Given the description of an element on the screen output the (x, y) to click on. 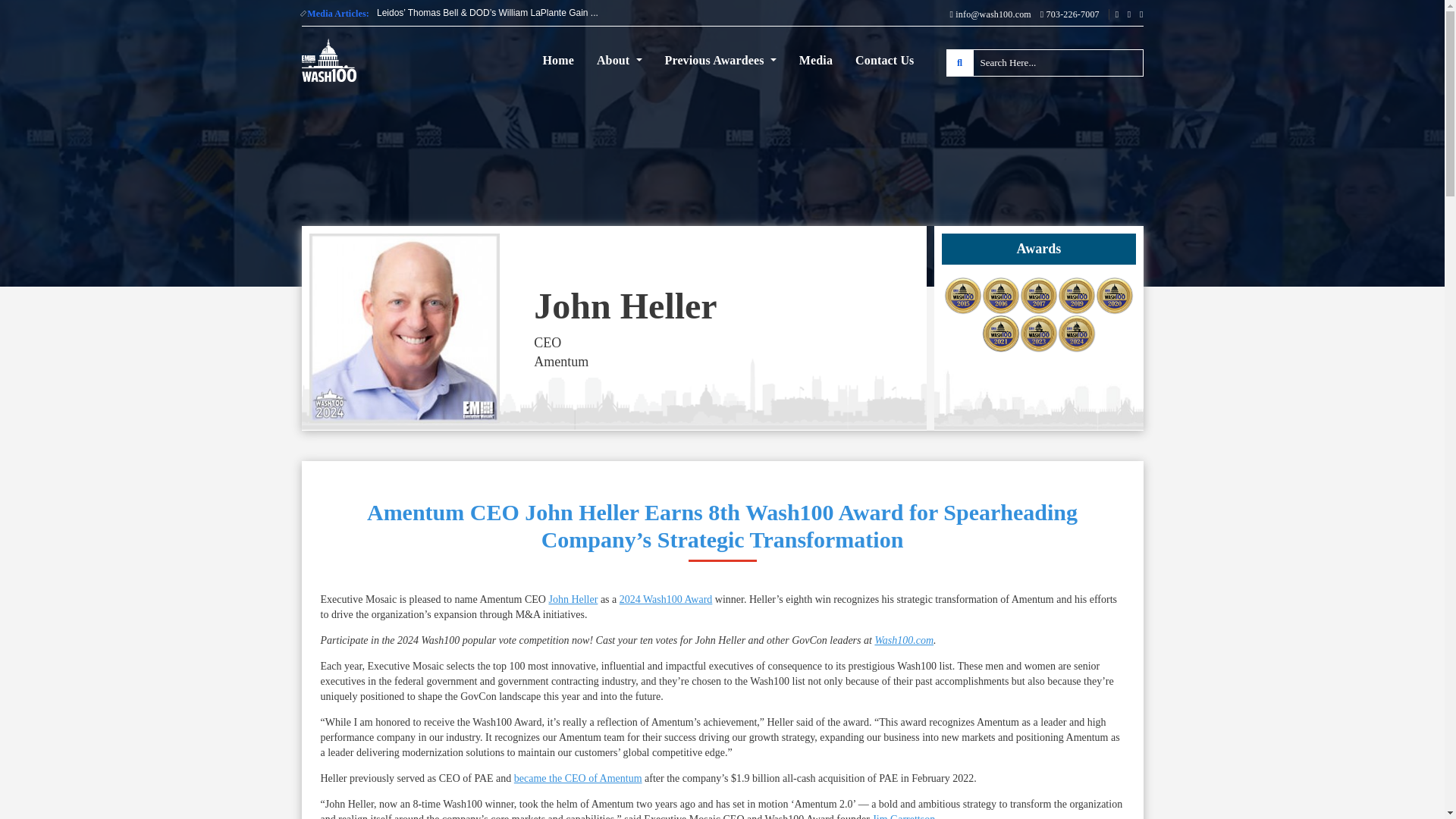
Wash100 2015 Winner (962, 295)
Wash100 2016 Winner (1000, 295)
Wash100 2019 Winner (1077, 295)
Wash100 2017 Winner (1039, 295)
Contact Us (885, 60)
Home (557, 60)
Previous Awardees (720, 60)
703-226-7007 (1075, 14)
Wash100 2020 Winner (1115, 295)
Wash100 2024 Winner (1077, 333)
About (619, 60)
Wash100 2021 Winner (1000, 333)
Media (815, 60)
Wash100 2023 Winner (1039, 333)
